Given the description of an element on the screen output the (x, y) to click on. 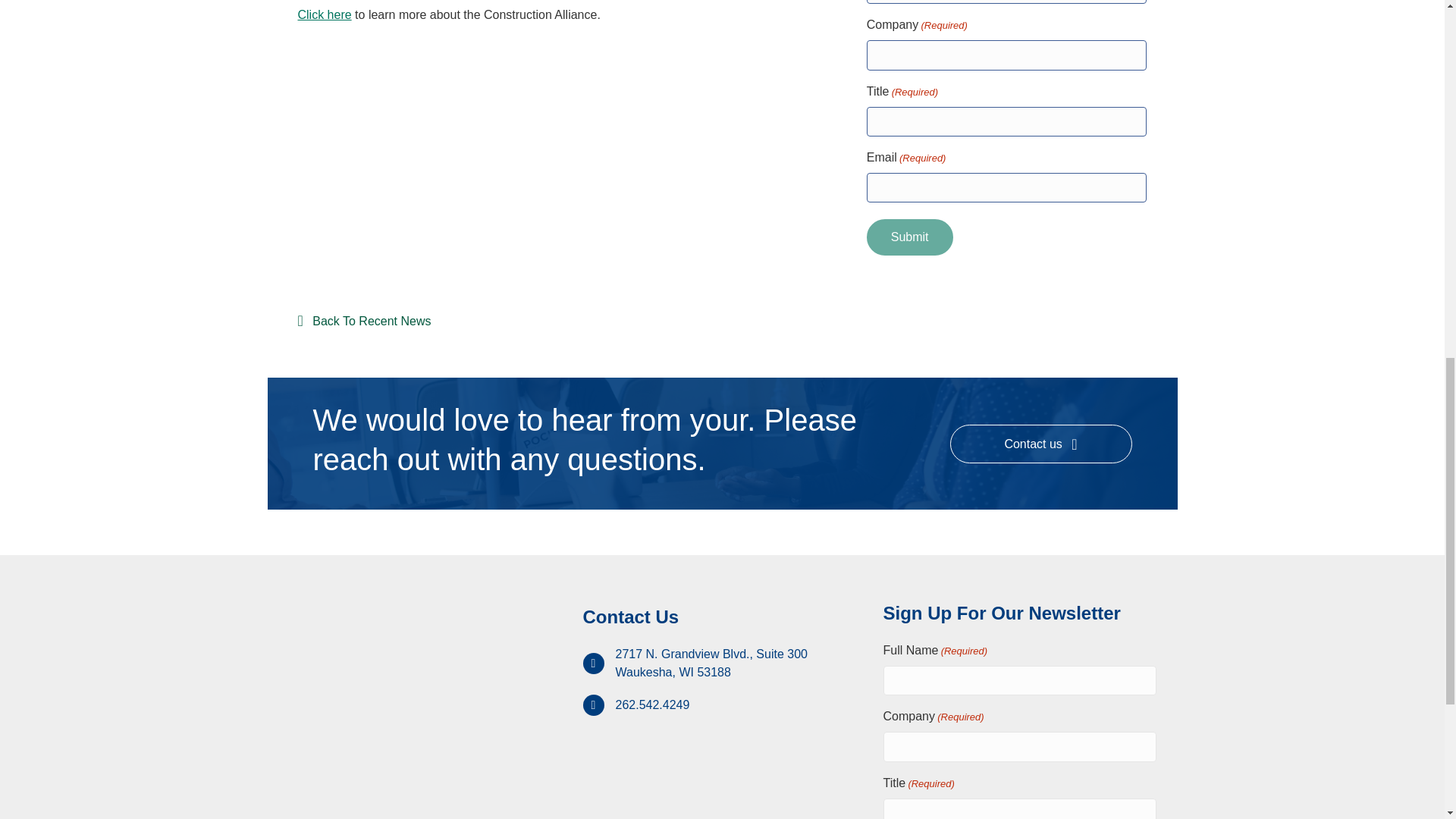
Submit (909, 236)
